Given the description of an element on the screen output the (x, y) to click on. 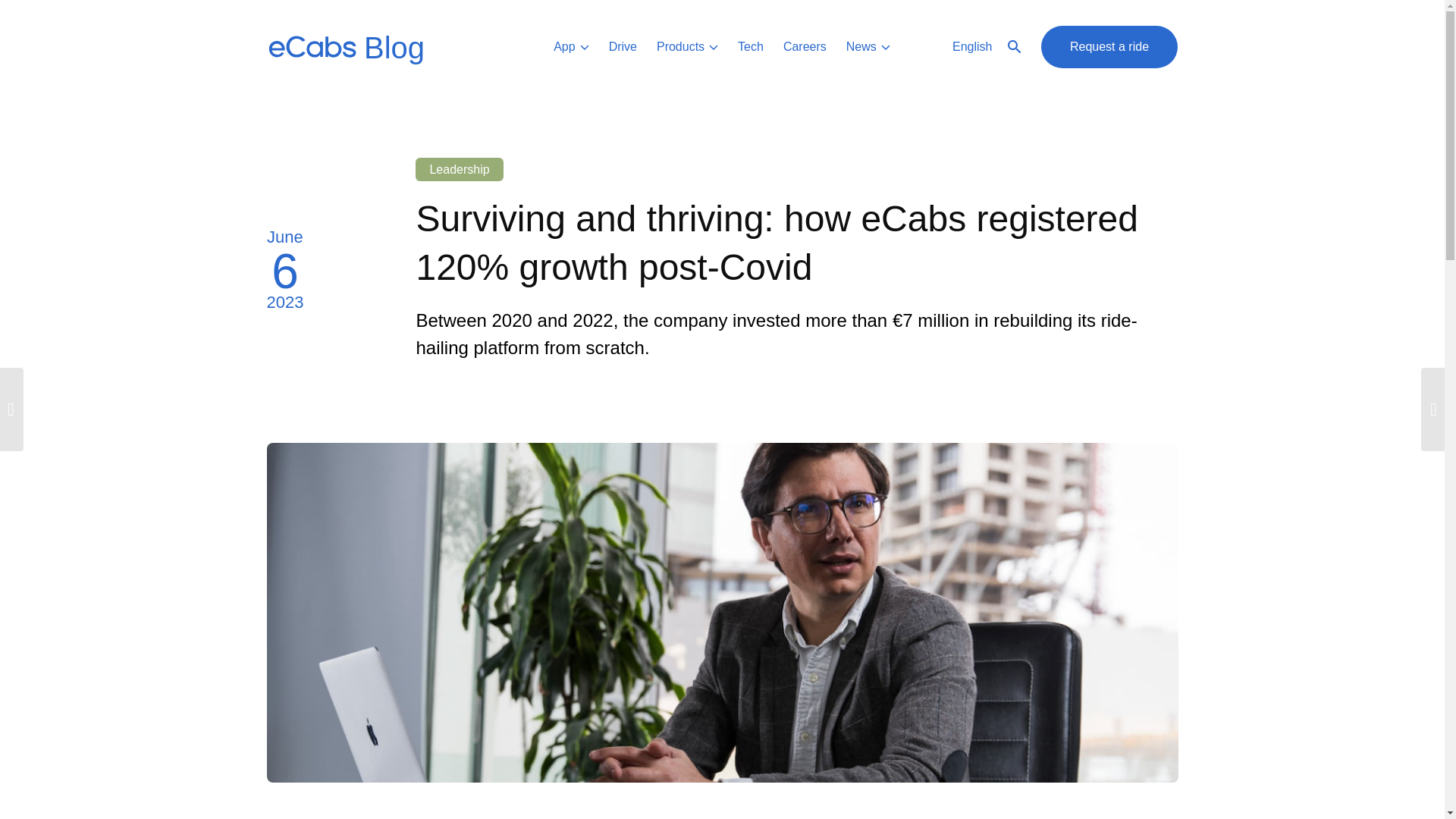
English (987, 47)
English (987, 47)
Request a ride (1108, 47)
